Given the description of an element on the screen output the (x, y) to click on. 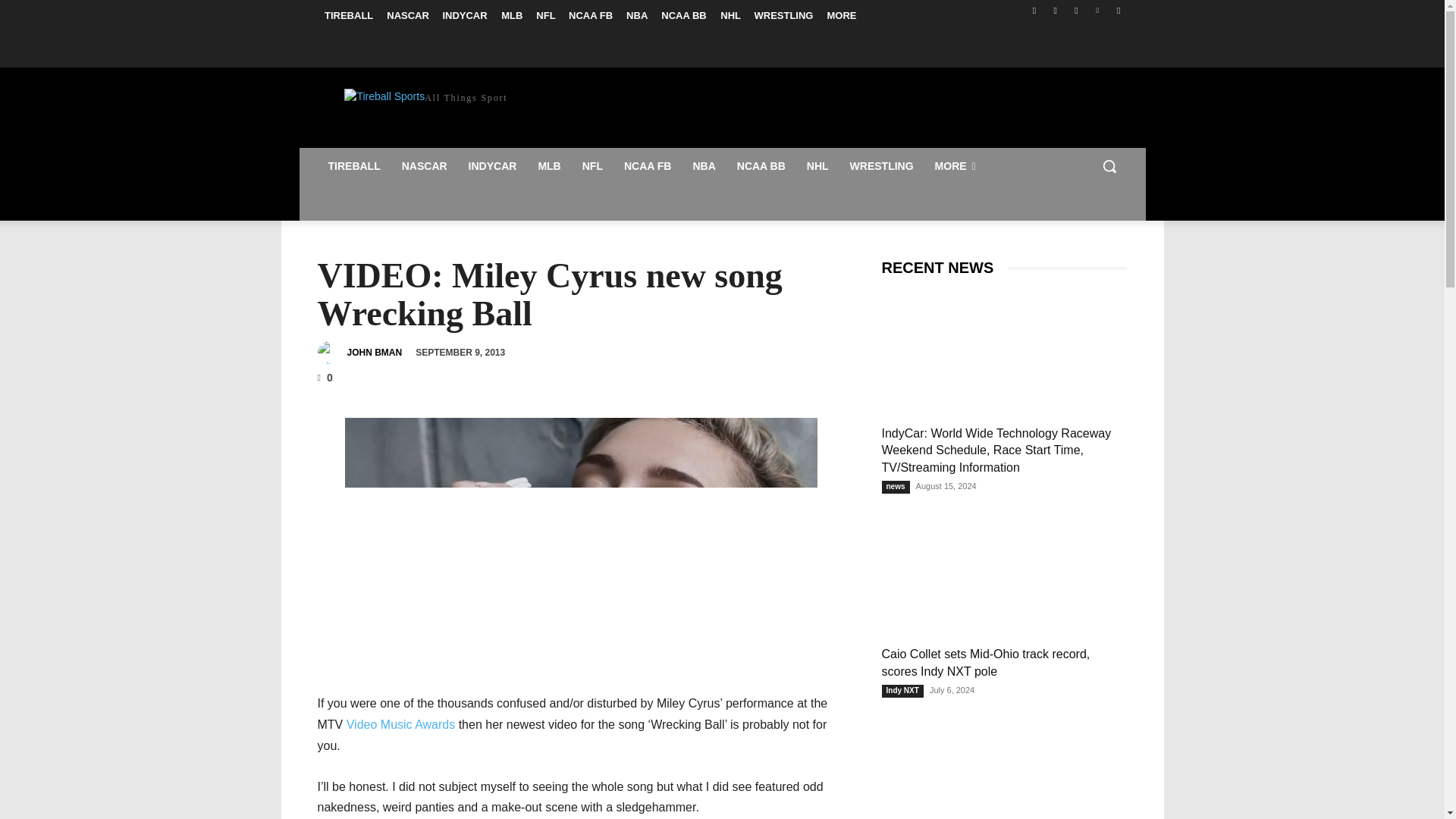
NBA (636, 15)
INDYCAR (464, 15)
WRESTLING (782, 15)
MORE (841, 15)
Instagram (1055, 9)
Vimeo (1097, 9)
NBA (703, 166)
NCAA BB (683, 15)
NCAA BB (761, 166)
INDYCAR (492, 166)
